Given the description of an element on the screen output the (x, y) to click on. 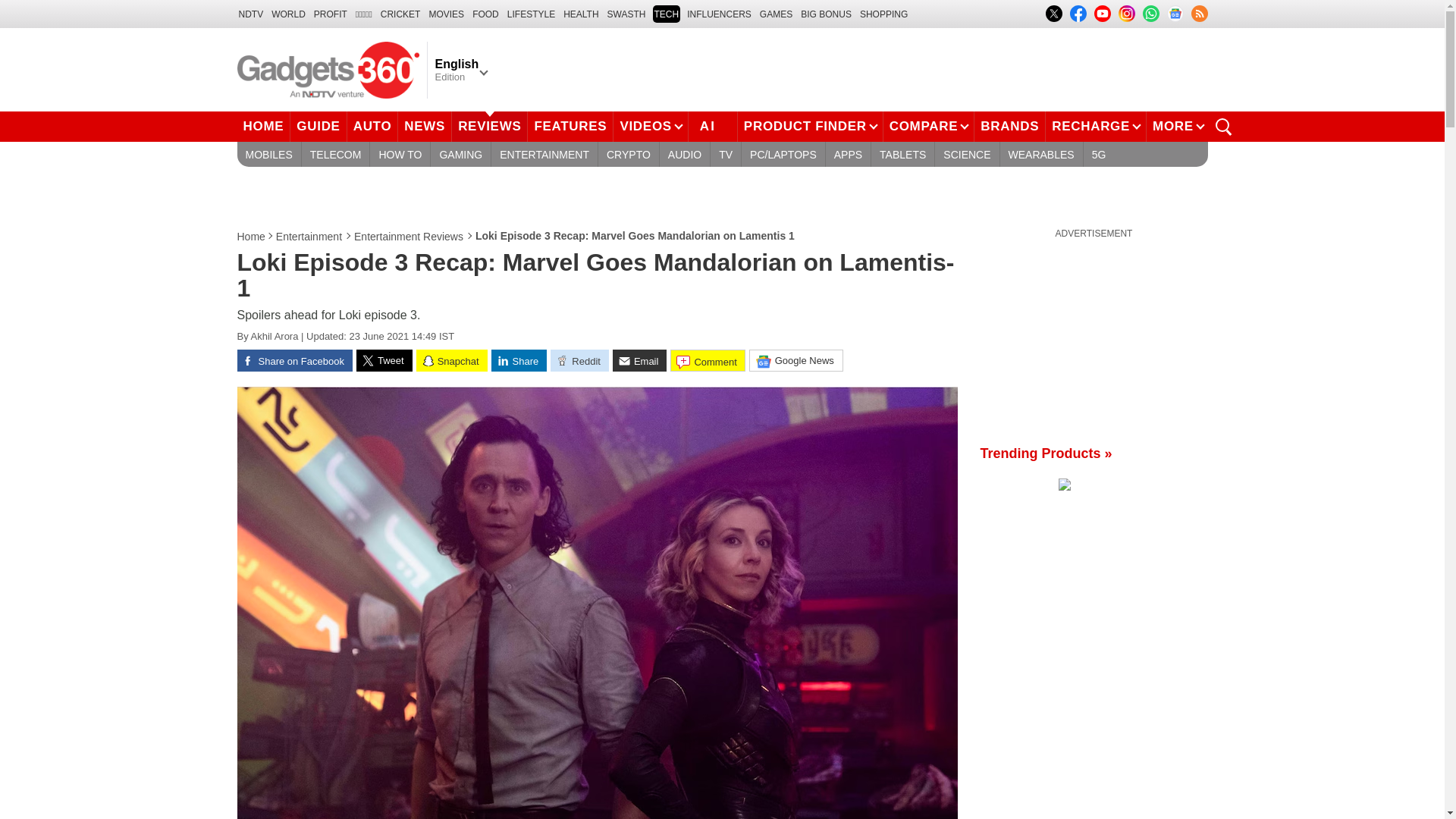
TECH (665, 13)
GUIDE (317, 126)
Games (775, 13)
TECH (665, 13)
MOVIES (445, 13)
LIFESTYLE (530, 13)
HEALTH (580, 13)
Profit (331, 13)
NDTV (249, 13)
HOME (262, 126)
Cricket (400, 13)
Influencers (718, 13)
HEALTH (580, 13)
PROFIT (331, 13)
World (288, 13)
